Given the description of an element on the screen output the (x, y) to click on. 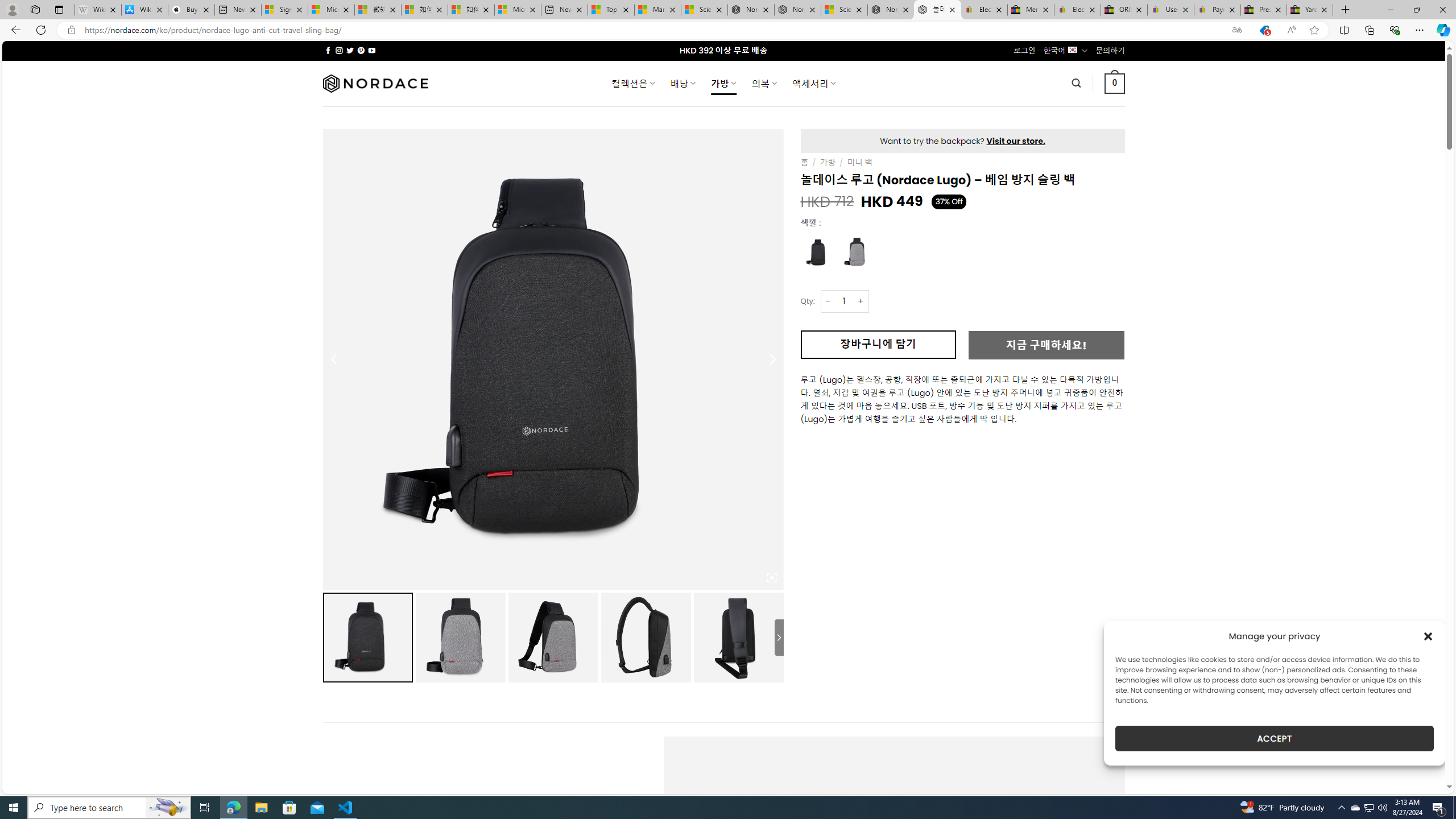
Visit our store. (1015, 140)
ACCEPT (1274, 738)
Follow on Instagram (338, 50)
Class: cmplz-close (1428, 636)
